Given the description of an element on the screen output the (x, y) to click on. 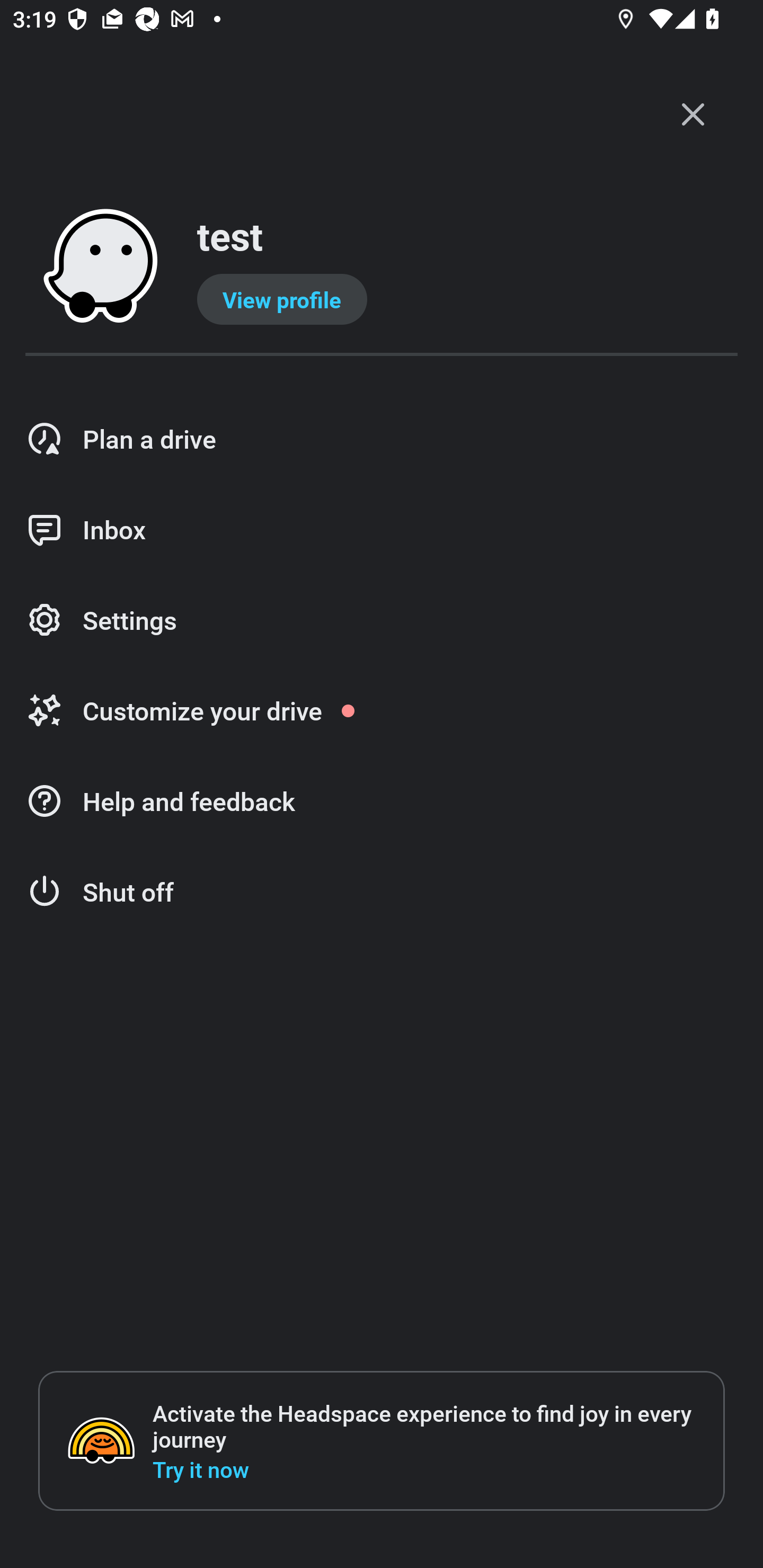
test View profile (381, 266)
View profile (281, 299)
ACTION_CELL_ICON Plan a drive ACTION_CELL_TEXT (381, 438)
ACTION_CELL_ICON Inbox ACTION_CELL_TEXT (381, 529)
ACTION_CELL_ICON Settings ACTION_CELL_TEXT (381, 620)
ACTION_CELL_ICON Shut off ACTION_CELL_TEXT (381, 891)
